Given the description of an element on the screen output the (x, y) to click on. 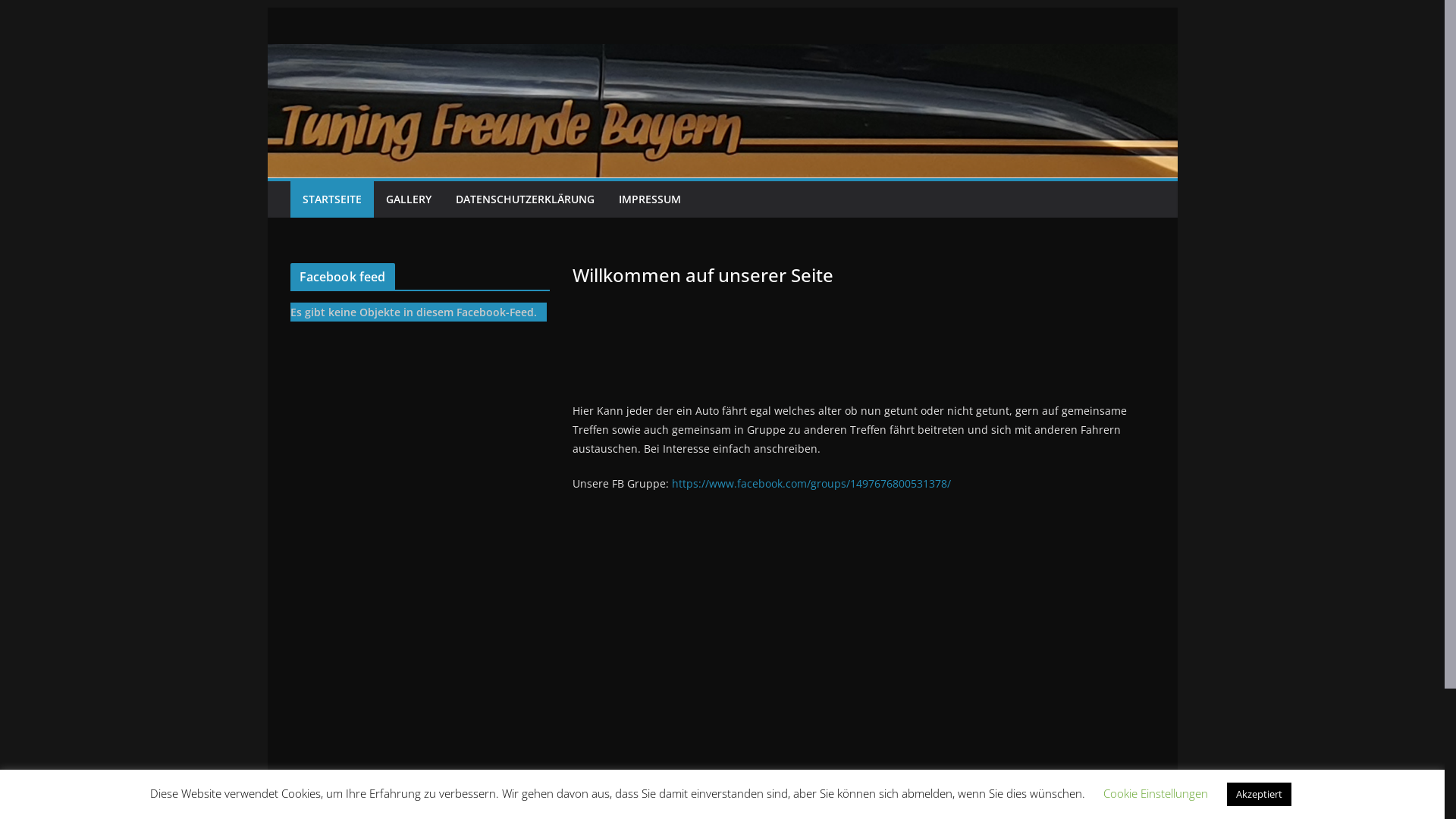
GALLERY Element type: text (407, 199)
Cookie Einstellungen Element type: text (1154, 792)
Akzeptiert Element type: text (1258, 794)
https://www.facebook.com/groups/1497676800531378/ Element type: text (810, 483)
Zum Inhalt springen Element type: text (266, 6)
IMPRESSUM Element type: text (649, 199)
STARTSEITE Element type: text (330, 199)
